Given the description of an element on the screen output the (x, y) to click on. 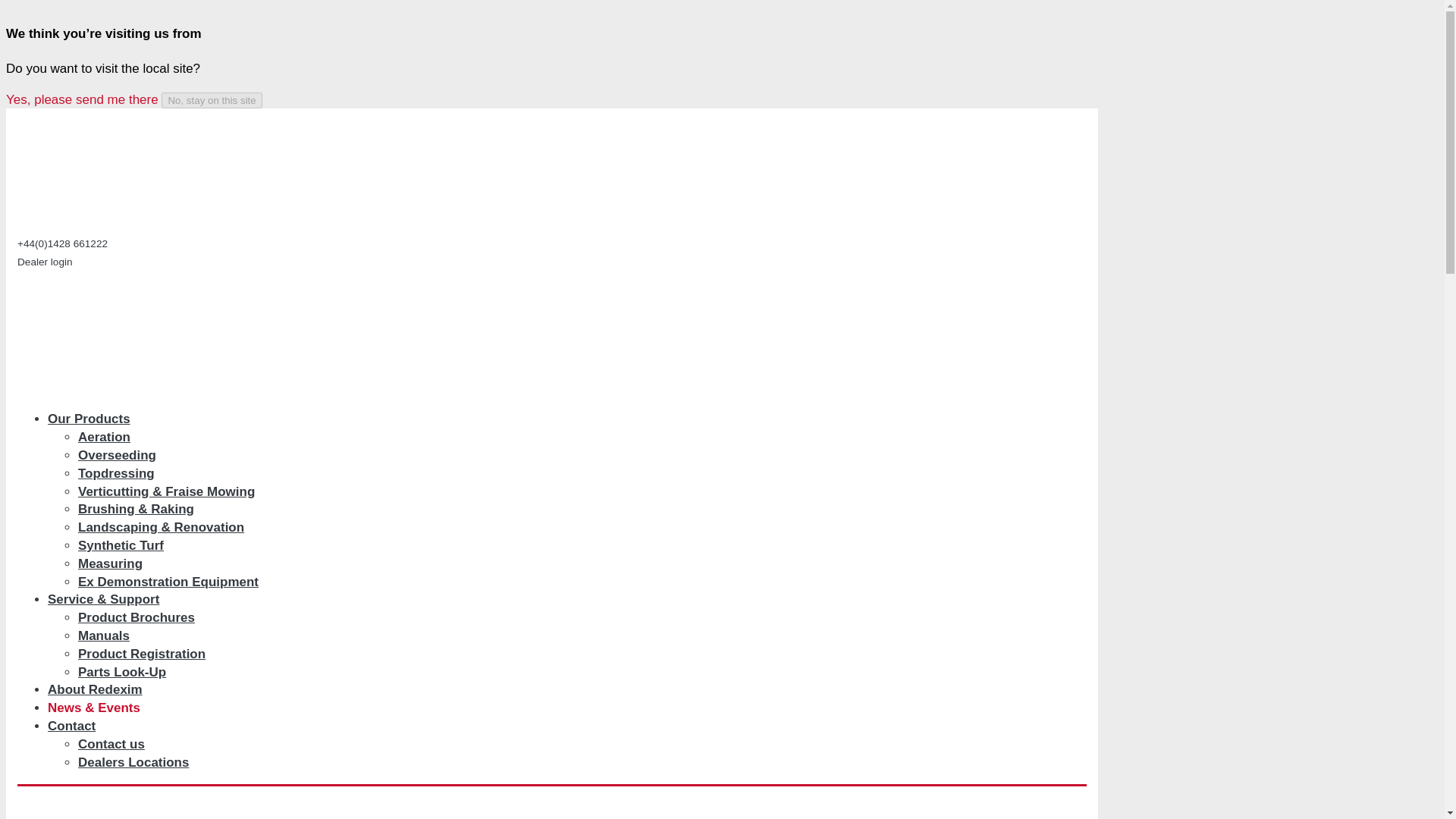
Product Brochures (146, 617)
Yes, please send me there (81, 99)
Parts Look-Up (132, 672)
Ex Demonstration Equipment (178, 581)
Product Registration (151, 653)
Dealers Locations (143, 762)
Contact (81, 726)
Manuals (113, 635)
Parts Look-Up (132, 672)
No, stay on this site (211, 100)
Topdressing (125, 473)
Aeration (113, 436)
Contact us (120, 744)
Our Products (98, 418)
About Redexim (104, 689)
